Given the description of an element on the screen output the (x, y) to click on. 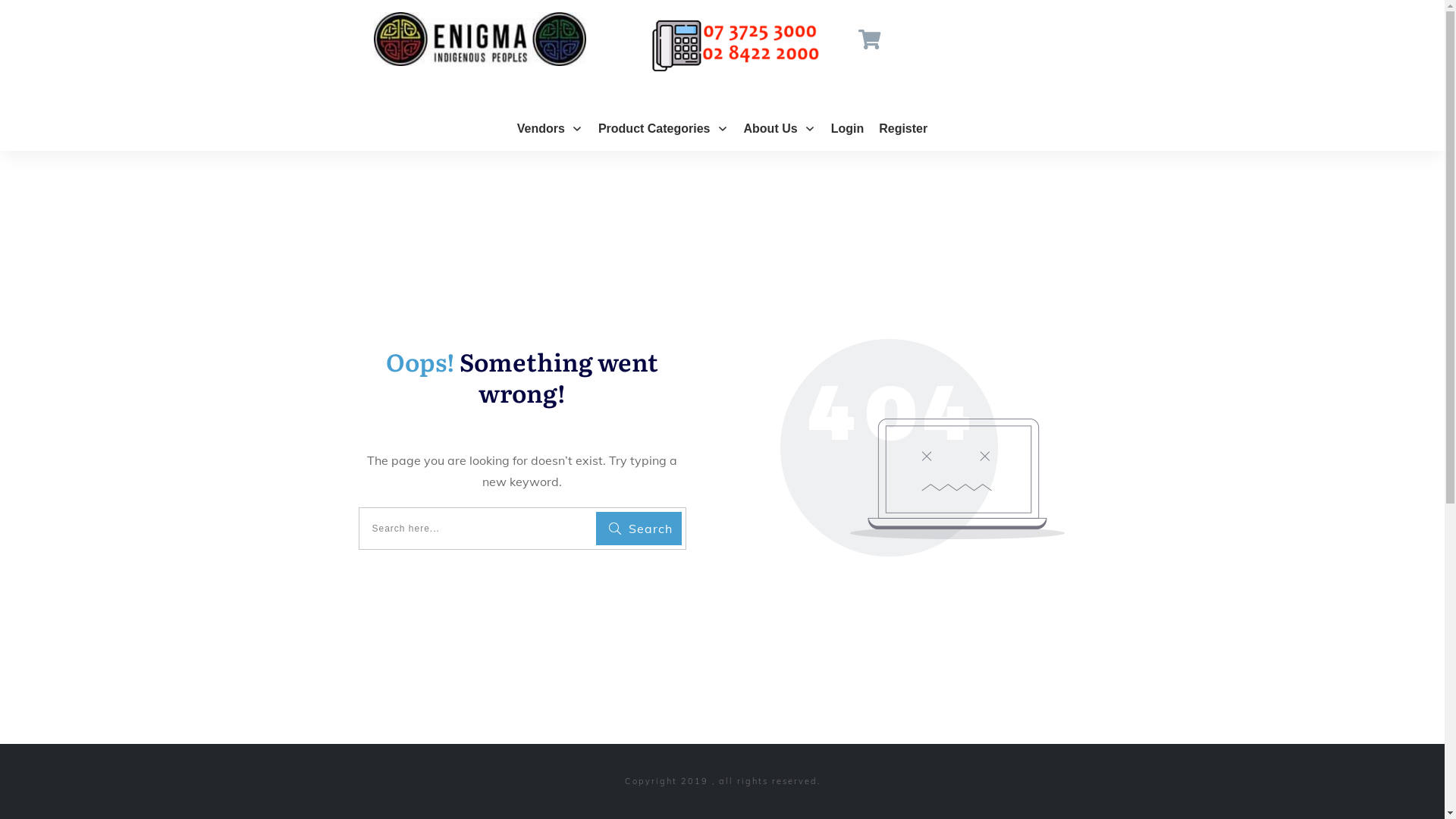
About Us Element type: text (779, 128)
Vendors Element type: text (550, 128)
404 Element type: hover (922, 447)
Login Element type: text (847, 128)
Search Element type: text (638, 528)
Product Categories Element type: text (663, 128)
Register Element type: text (902, 128)
enigmaipphones-300x94 copy Element type: hover (734, 44)
